Given the description of an element on the screen output the (x, y) to click on. 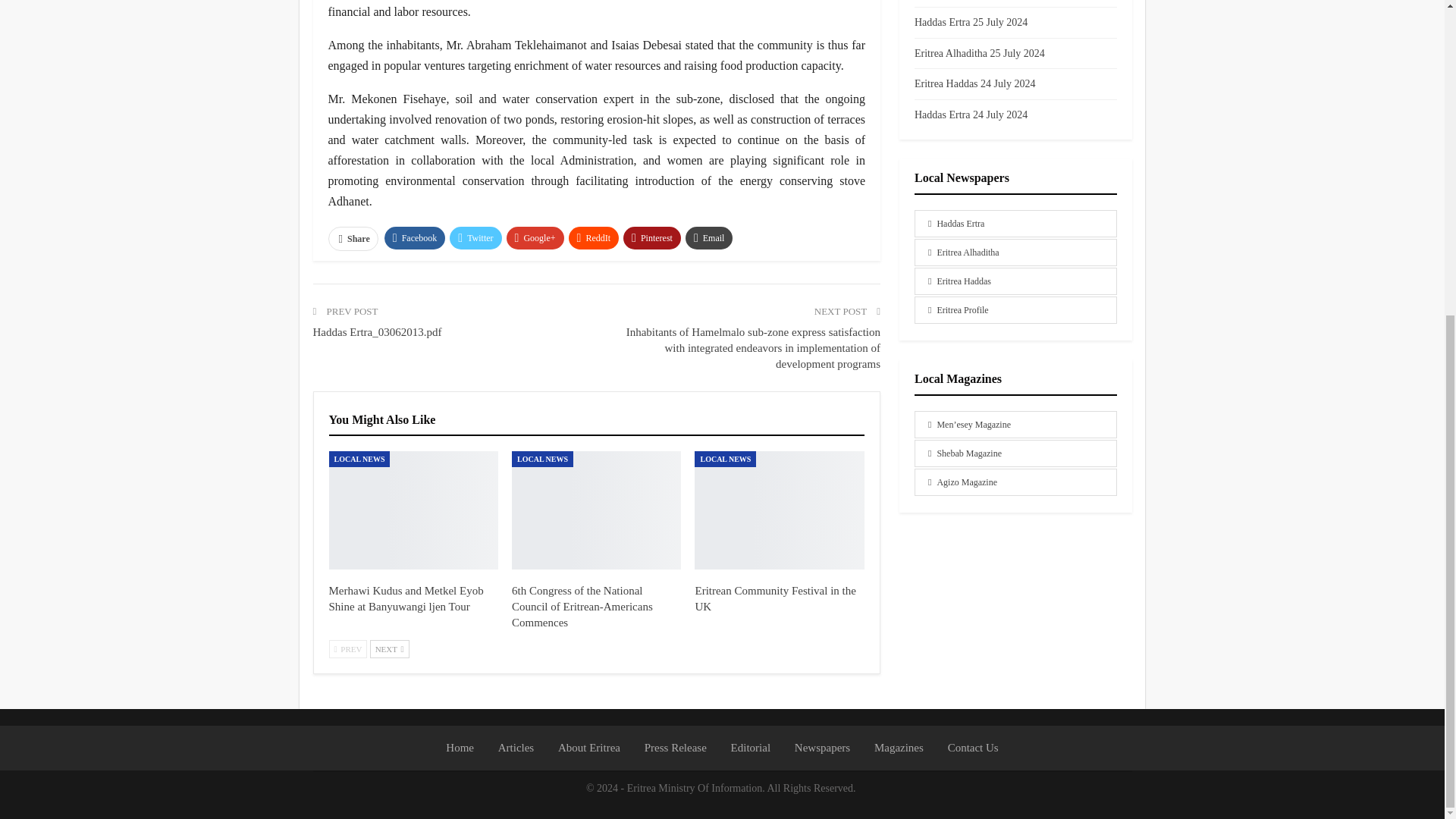
Merhawi Kudus and Metkel Eyob Shine at Banyuwangi ljen Tour (413, 510)
Merhawi Kudus and Metkel Eyob Shine at Banyuwangi ljen Tour (406, 598)
Previous (348, 648)
Next (389, 648)
Eritrean Community Festival in the UK (775, 598)
Eritrean Community Festival in the UK (778, 510)
